Given the description of an element on the screen output the (x, y) to click on. 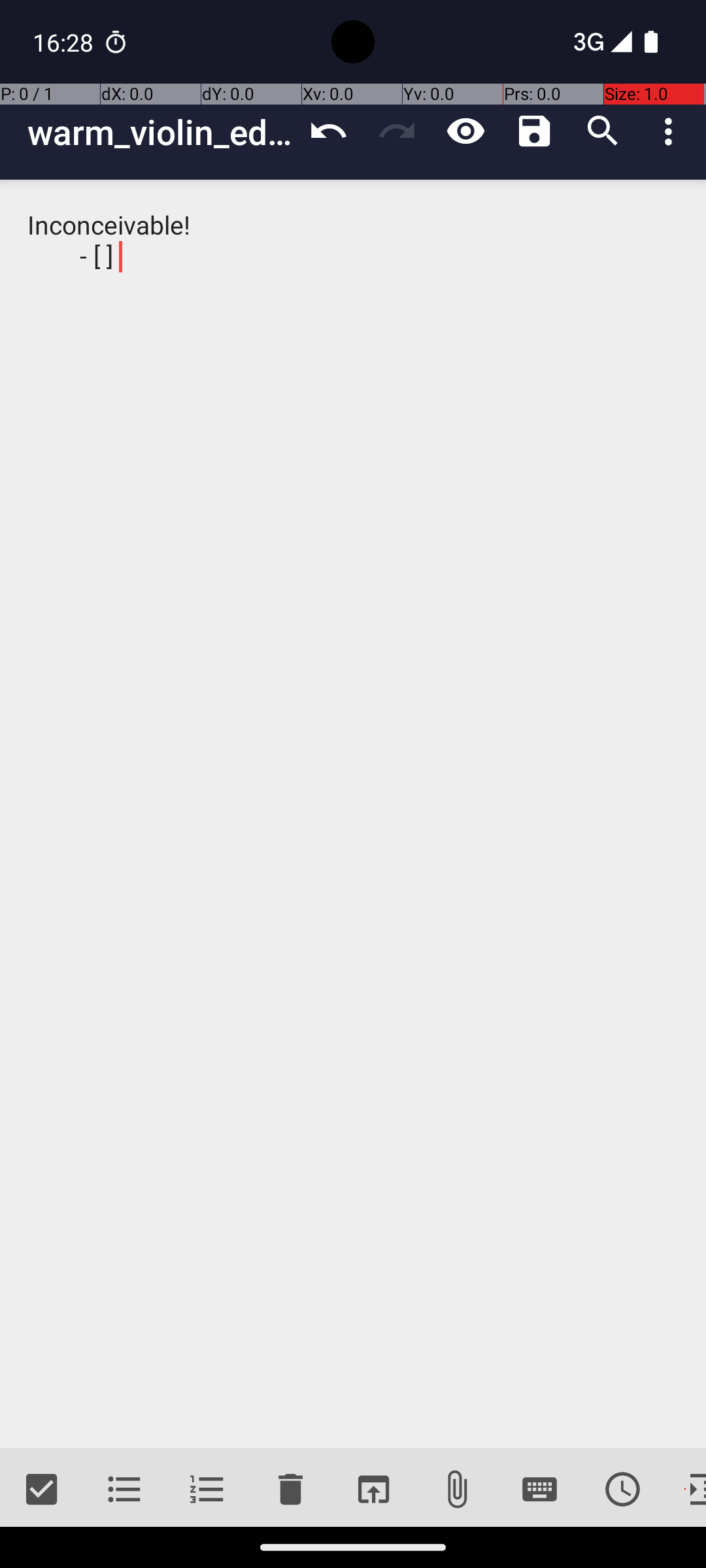
warm_violin_edited Element type: android.widget.TextView (160, 131)
Inconceivable!
 Element type: android.widget.EditText (353, 813)
16:28 Element type: android.widget.TextView (64, 41)
